Given the description of an element on the screen output the (x, y) to click on. 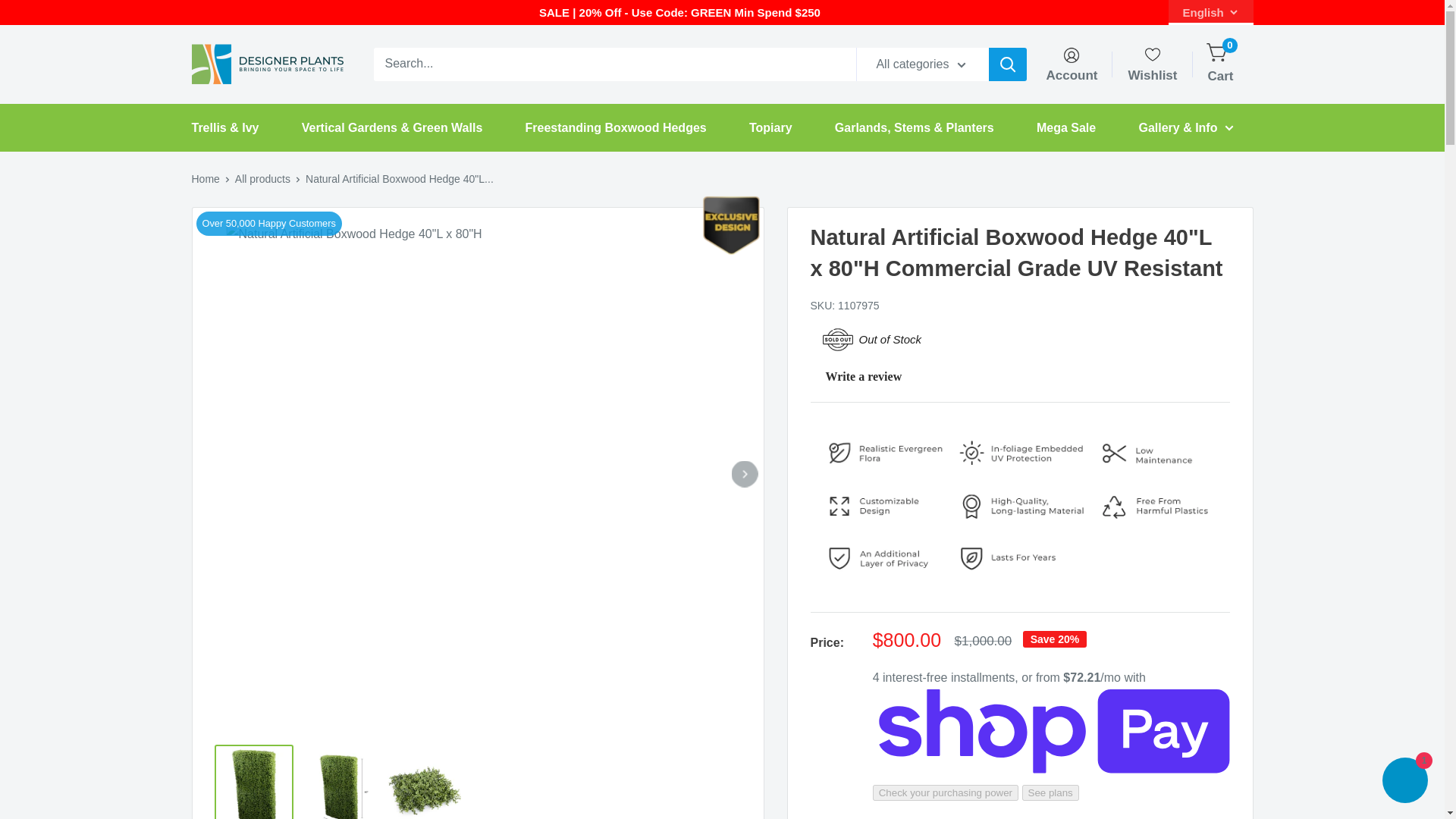
Write a review (855, 377)
Shopify online store chat (1404, 781)
